Given the description of an element on the screen output the (x, y) to click on. 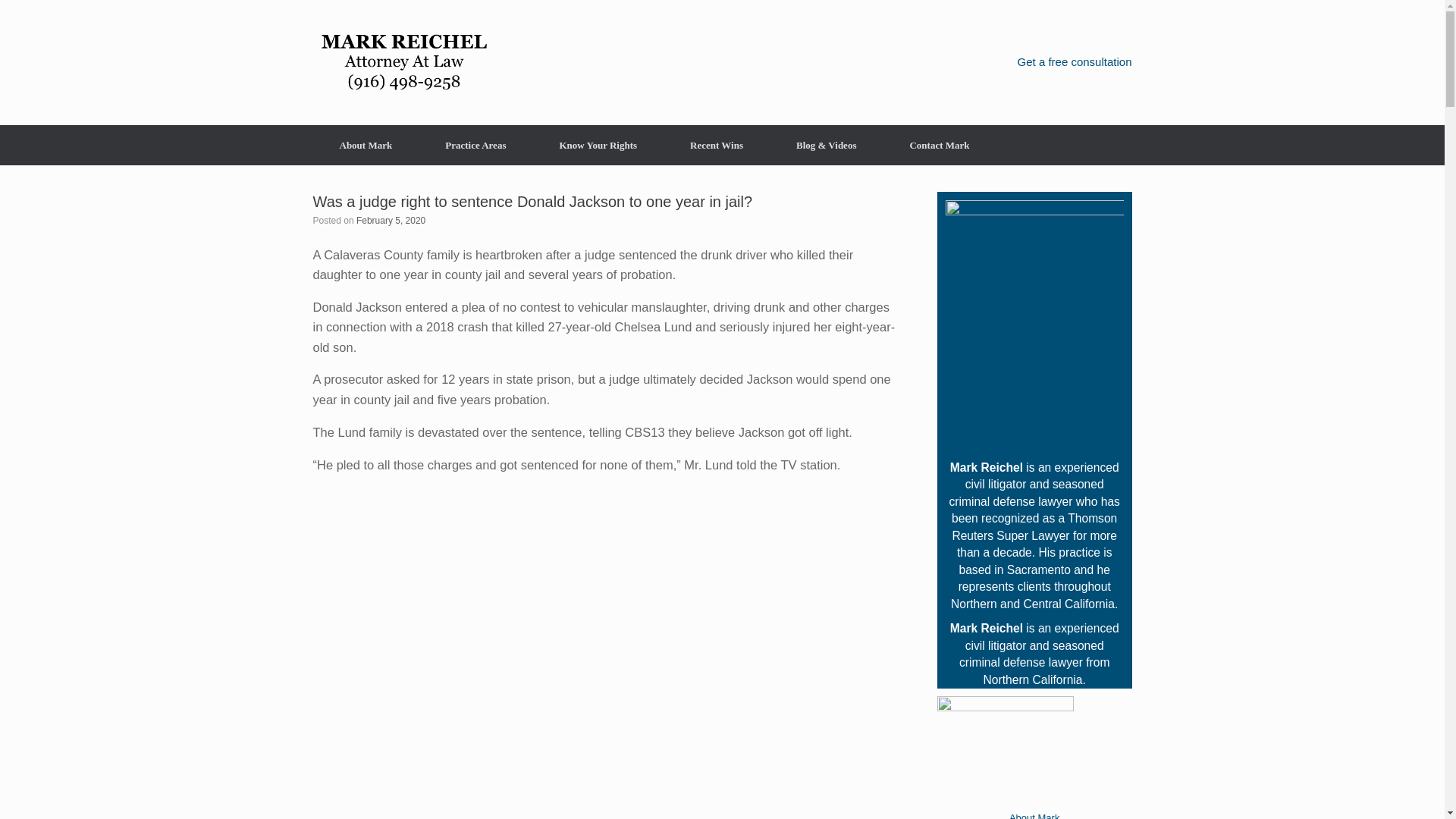
Get a free consultation (1074, 61)
Recent Wins (716, 145)
ReichelLaw.com (404, 62)
February 5, 2020 (390, 220)
About Mark (366, 145)
Practice Areas (475, 145)
Contact Mark (938, 145)
7:04 am (390, 220)
Know Your Rights (597, 145)
